Given the description of an element on the screen output the (x, y) to click on. 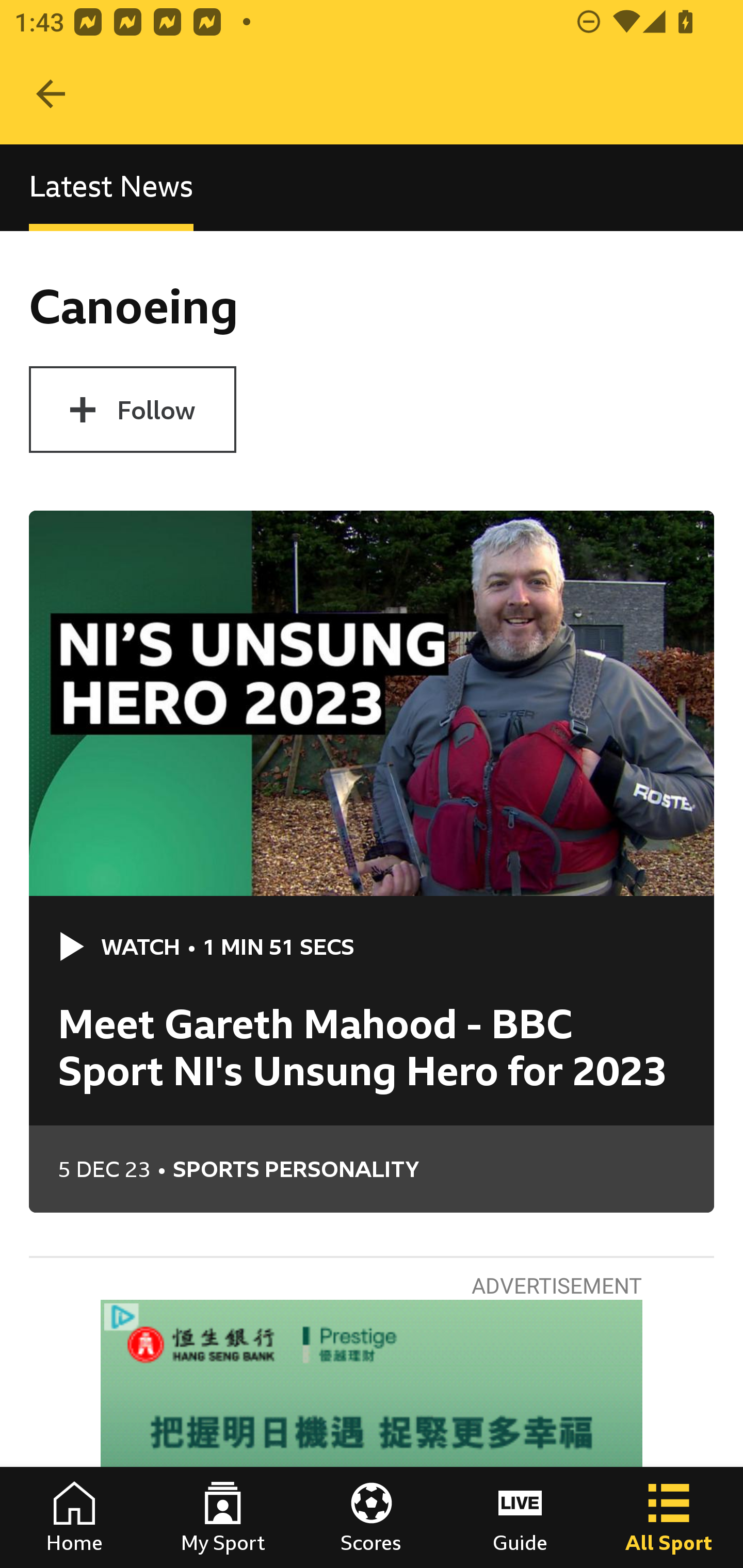
Navigate up (50, 93)
Latest News, selected Latest News (111, 187)
Follow Canoeing Follow (132, 409)
Advertisement (371, 1433)
Advertisement (371, 1433)
Home (74, 1517)
My Sport (222, 1517)
Scores (371, 1517)
Guide (519, 1517)
